Given the description of an element on the screen output the (x, y) to click on. 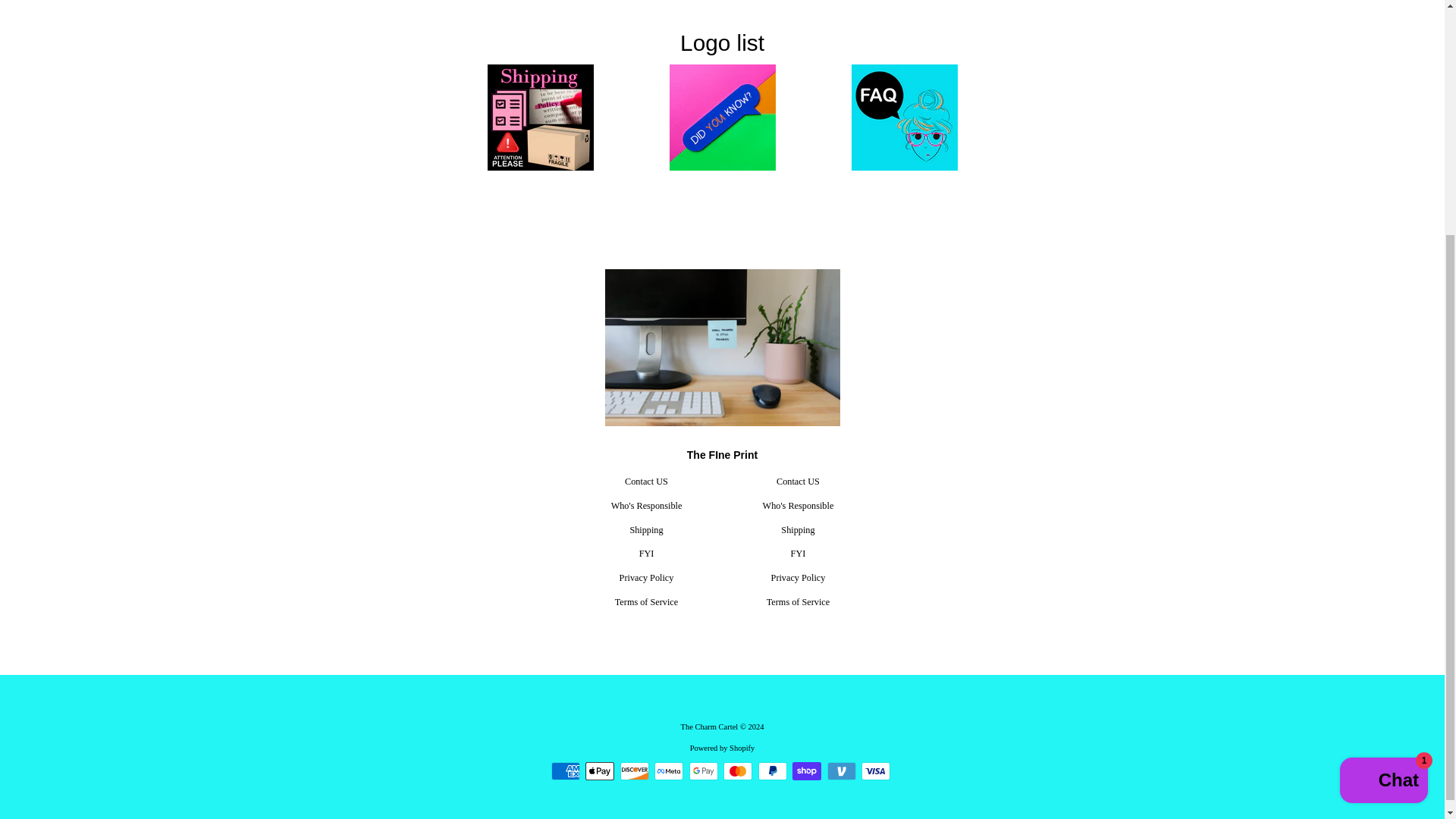
Shipping (796, 529)
Privacy Policy (647, 577)
Apple Pay (599, 771)
American Express (565, 771)
The Charm Cartel (708, 726)
Who's Responsible (798, 505)
Untitled design 25 (904, 117)
Contact US (797, 480)
Policies (540, 117)
Powered by Shopify (722, 747)
Mastercard (737, 771)
Discover (634, 771)
FYI (798, 552)
Privacy Policy (798, 577)
Terms of Service (798, 602)
